Given the description of an element on the screen output the (x, y) to click on. 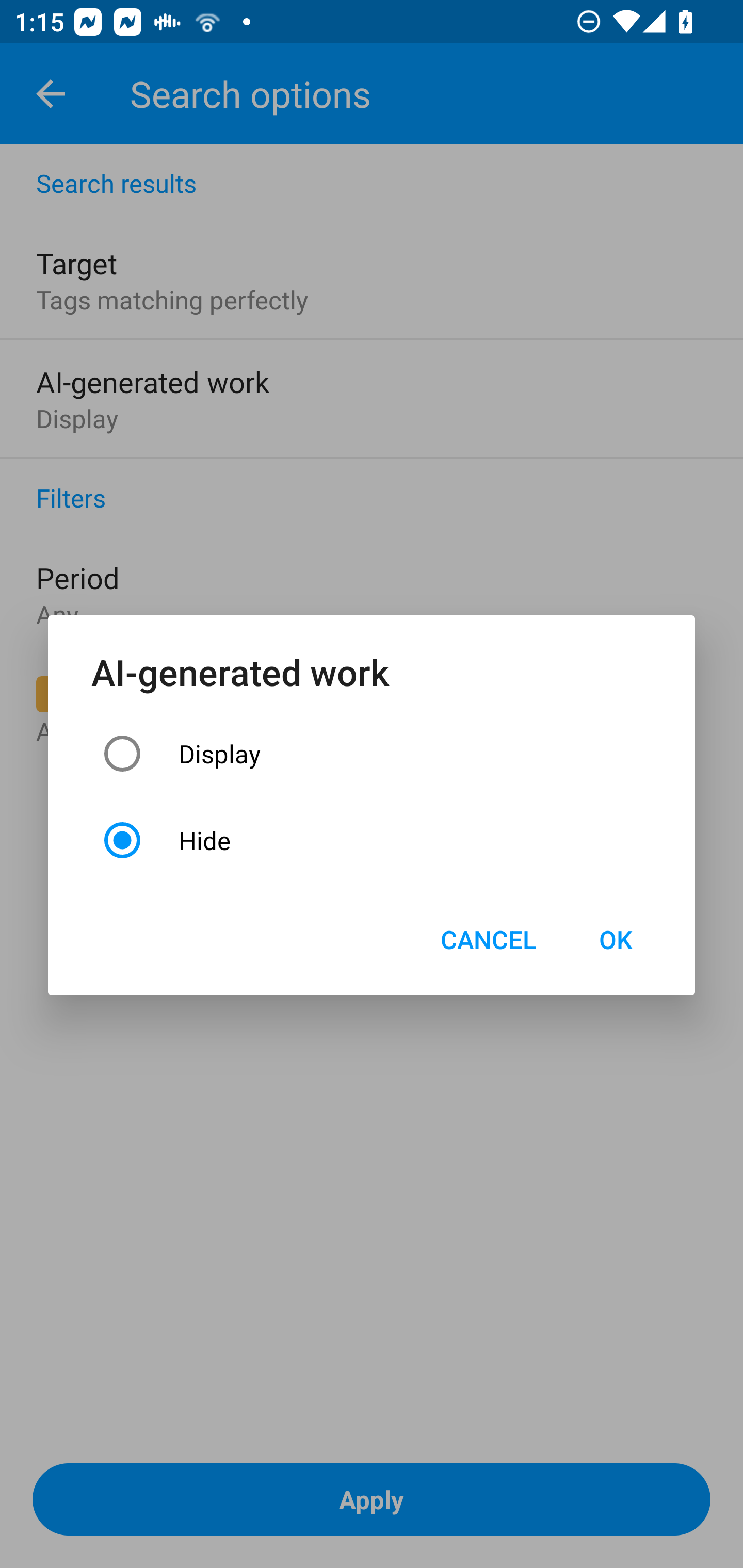
Display (371, 753)
Hide (371, 839)
CANCEL (488, 938)
OK (615, 938)
